Given the description of an element on the screen output the (x, y) to click on. 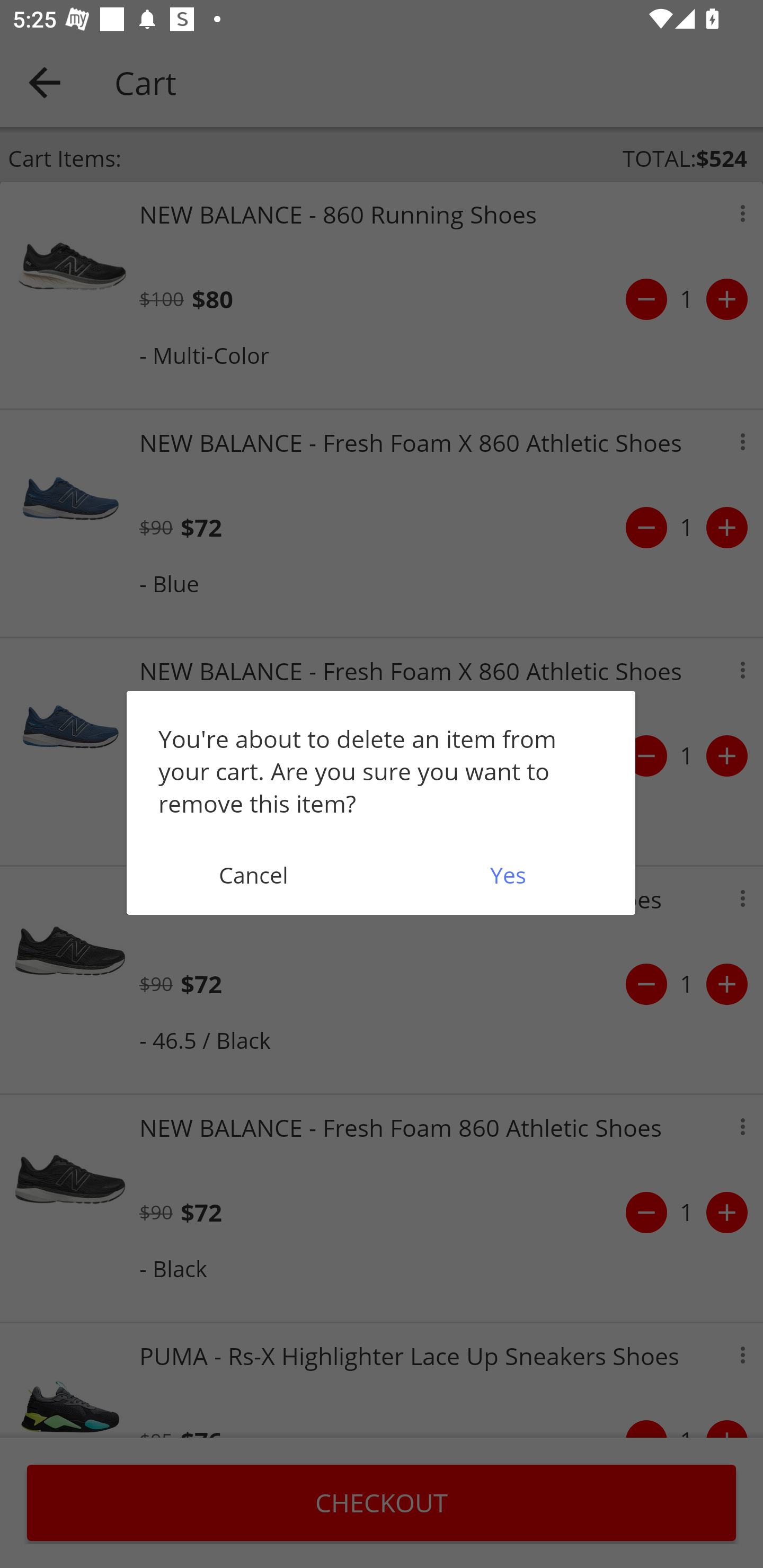
Cancel (253, 874)
Yes (507, 874)
